Given the description of an element on the screen output the (x, y) to click on. 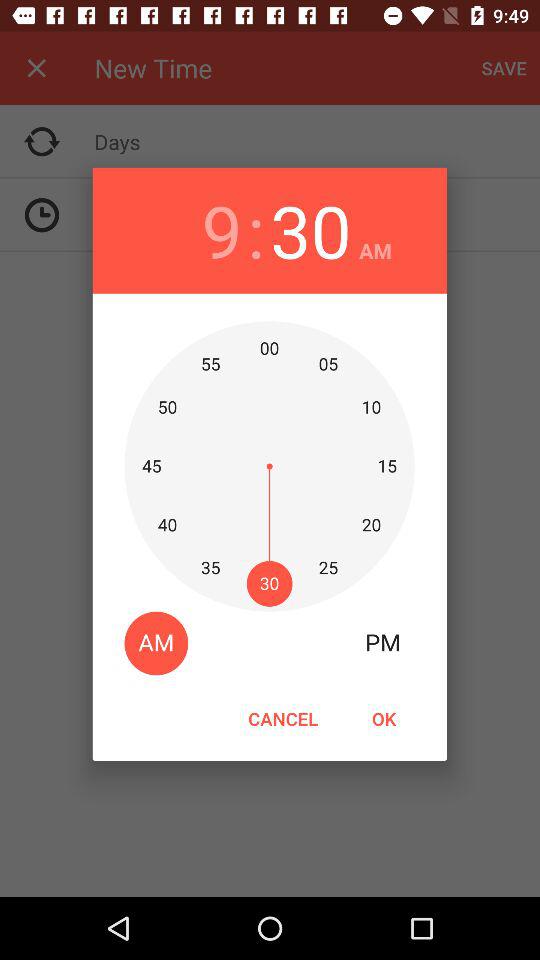
swipe until the cancel item (283, 718)
